Given the description of an element on the screen output the (x, y) to click on. 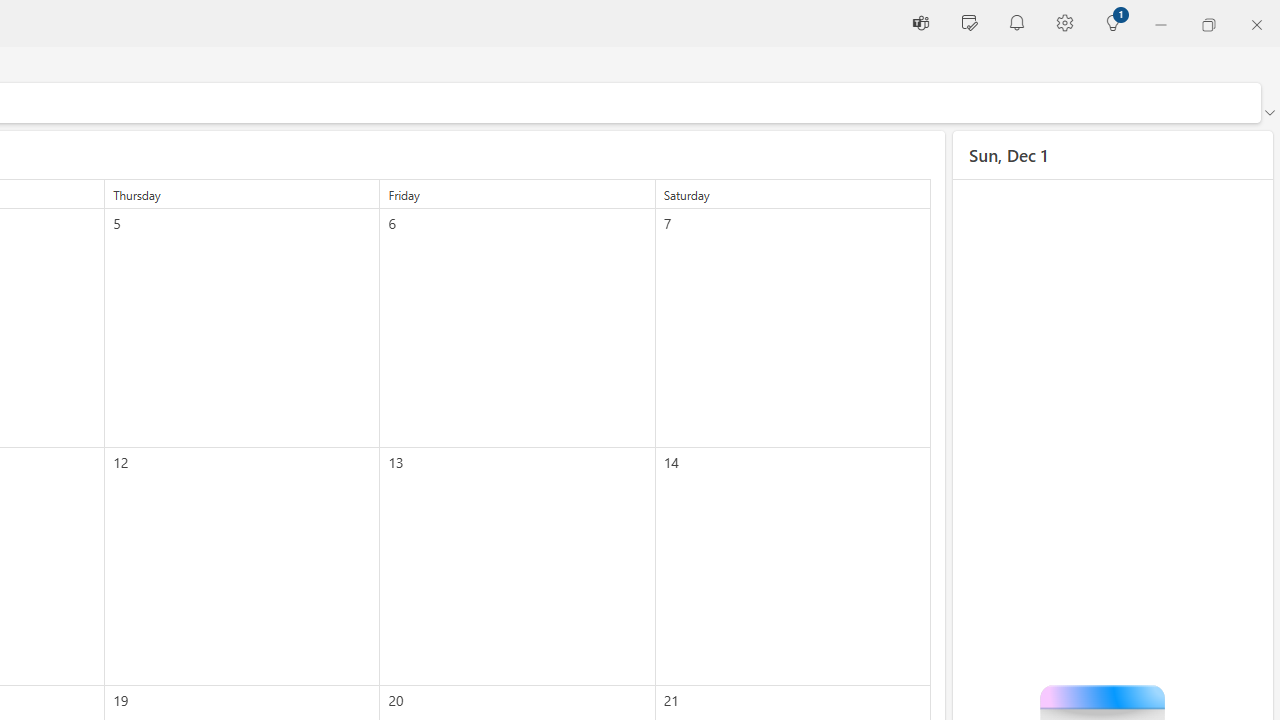
Ribbon display options (1269, 112)
